Given the description of an element on the screen output the (x, y) to click on. 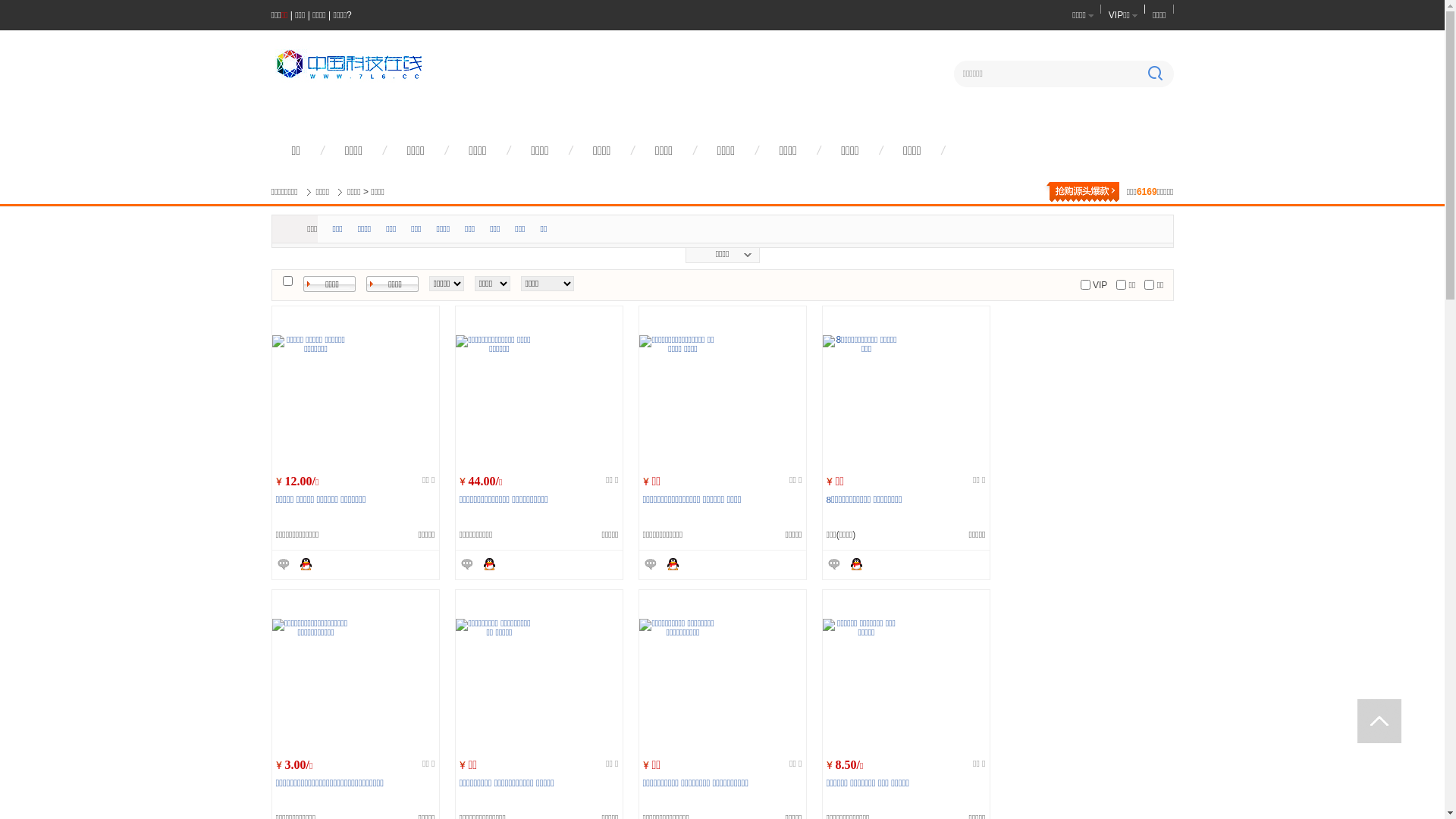
on Element type: text (286, 280)
on Element type: text (1121, 284)
on Element type: text (1085, 284)
  Element type: text (1379, 721)
on Element type: text (1149, 284)
